Given the description of an element on the screen output the (x, y) to click on. 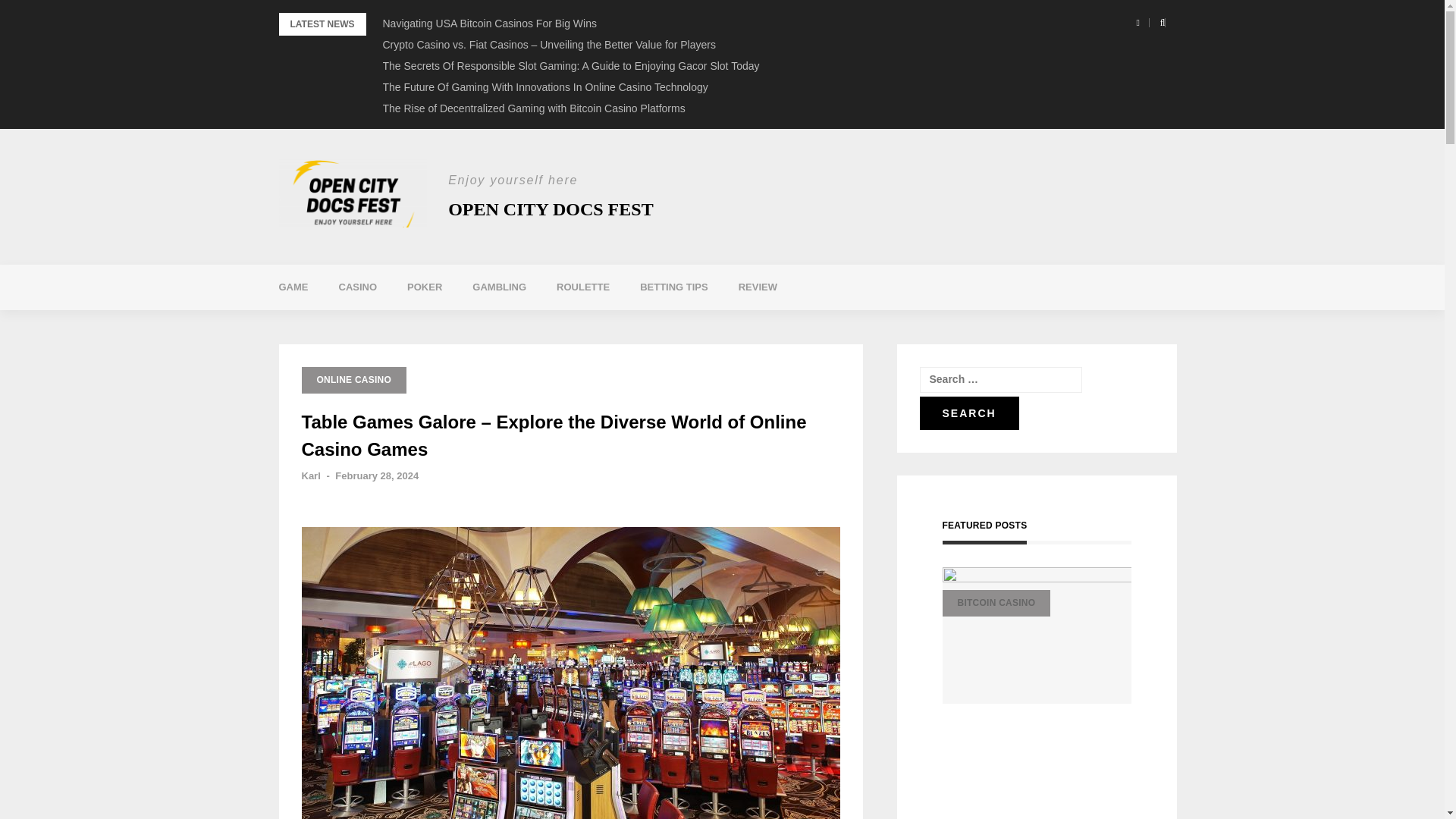
Casino (357, 287)
Navigating USA Bitcoin Casinos For Big Wins (488, 23)
ONLINE CASINO (354, 379)
February 28, 2024 (376, 475)
OPEN CITY DOCS FEST (550, 209)
ROULETTE (582, 287)
POKER (424, 287)
Search (967, 412)
BETTING TIPS (673, 287)
Poker (424, 287)
Search (967, 412)
Review (757, 287)
